Given the description of an element on the screen output the (x, y) to click on. 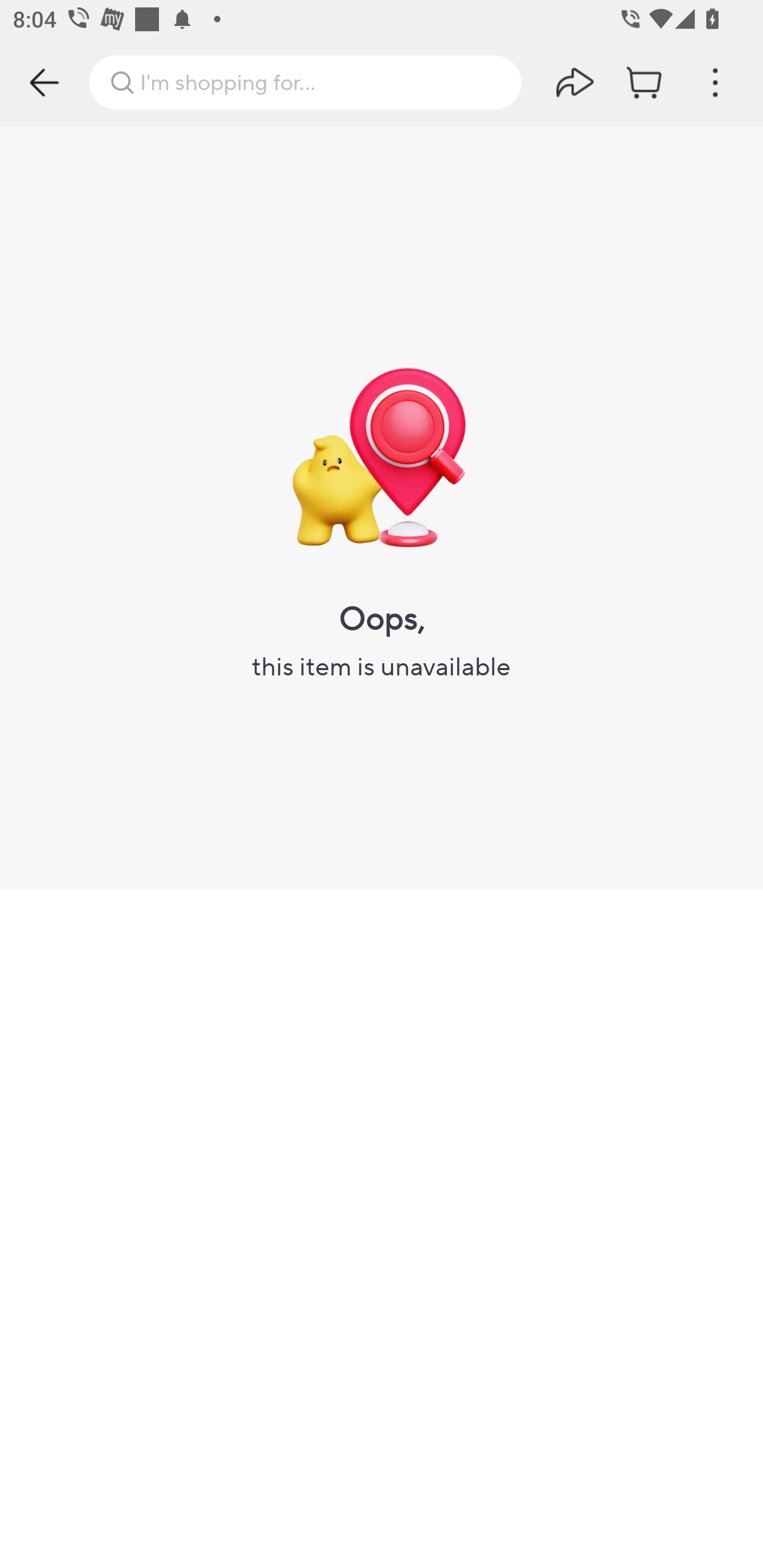
back (44, 82)
share (575, 82)
cart (645, 82)
more (715, 82)
I'm shopping for… (305, 81)
